Given the description of an element on the screen output the (x, y) to click on. 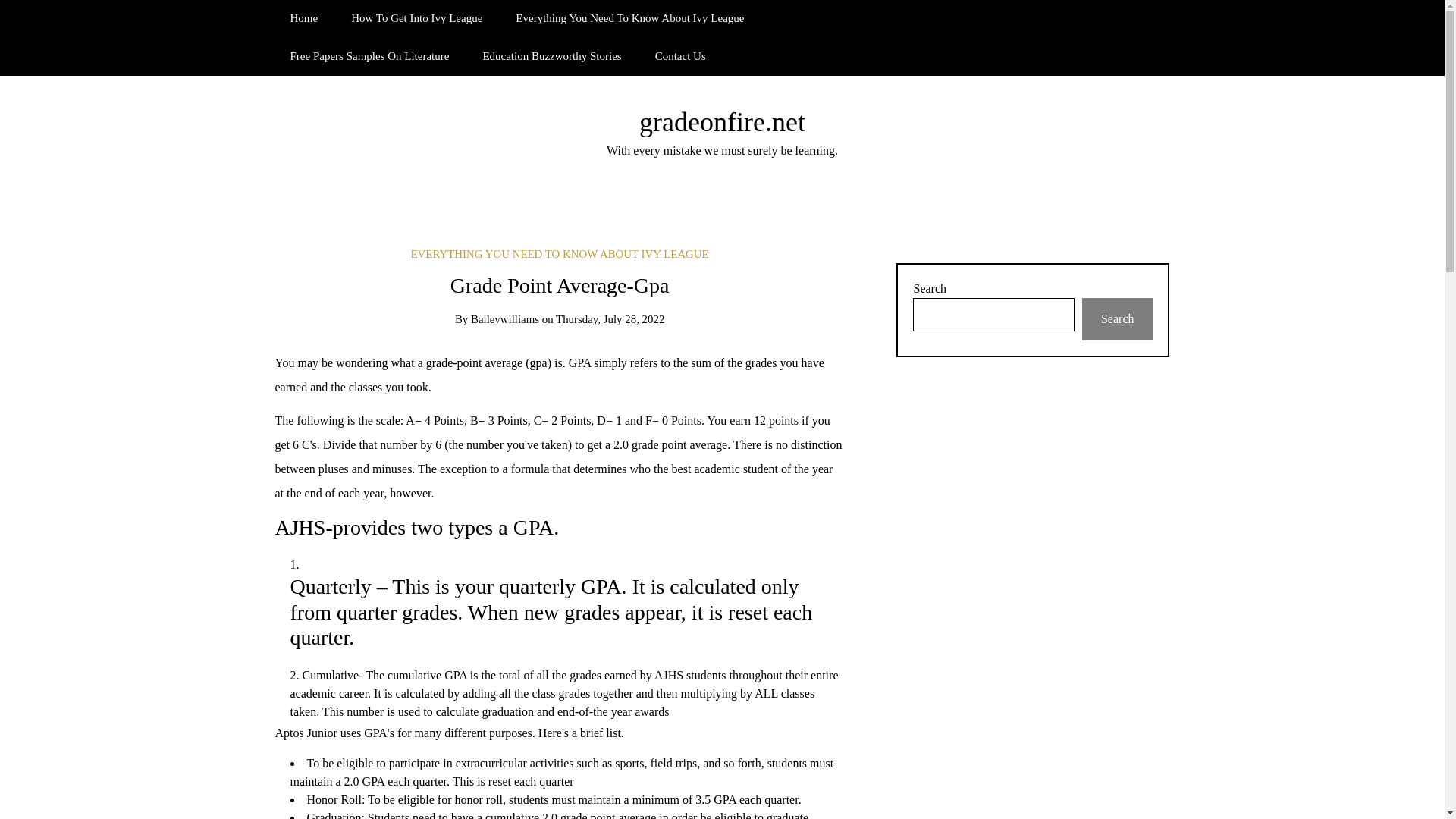
How To Get Into Ivy League (416, 18)
Thursday, July 28, 2022 (609, 318)
Contact Us (680, 56)
Baileywilliams (504, 318)
Posts by baileywilliams (504, 318)
Everything You Need To Know About Ivy League (629, 18)
Education Buzzworthy Stories (551, 56)
Search (1117, 319)
Home (304, 18)
EVERYTHING YOU NEED TO KNOW ABOUT IVY LEAGUE (559, 254)
